Given the description of an element on the screen output the (x, y) to click on. 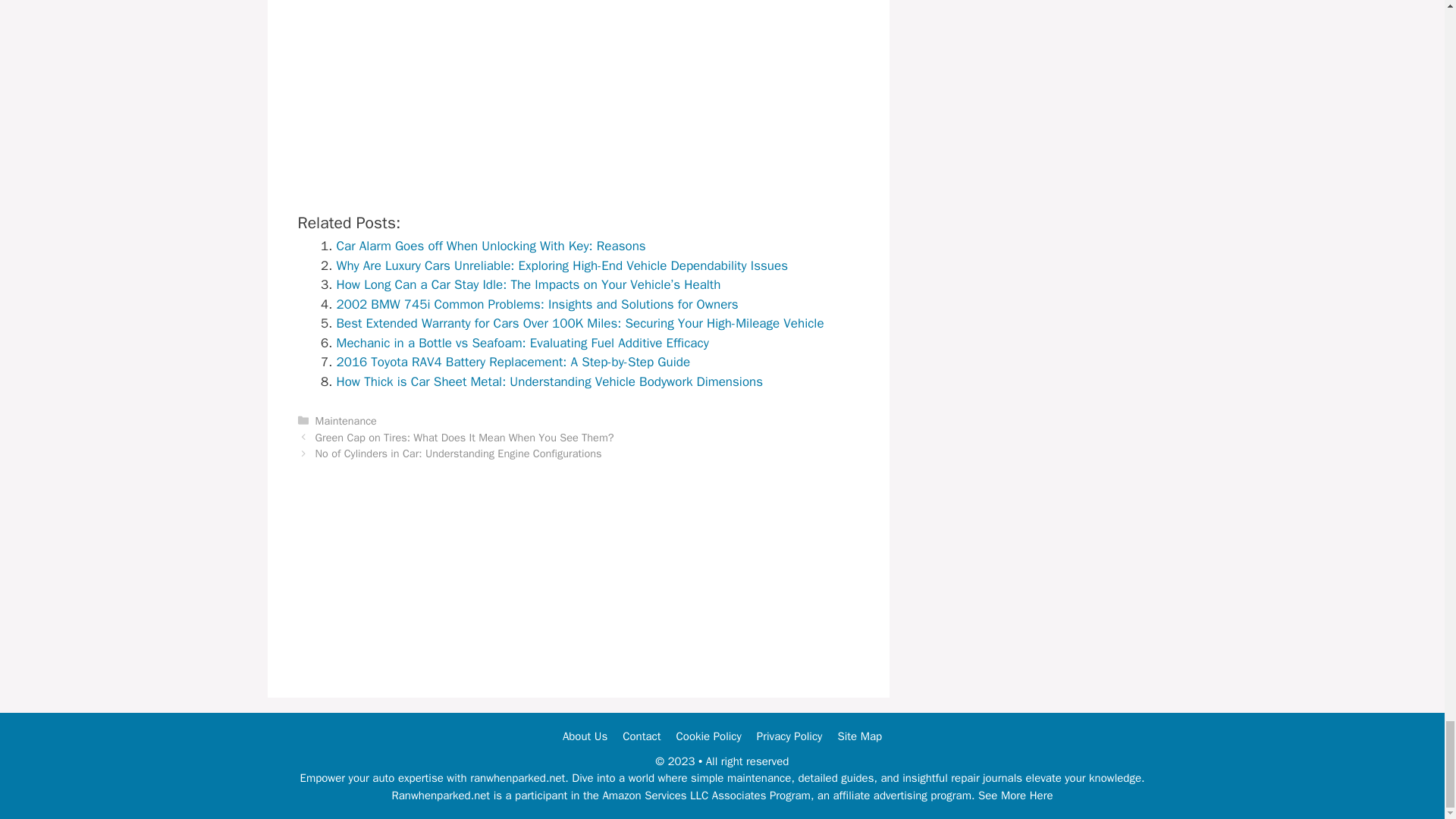
Car Alarm Goes off When Unlocking With Key: Reasons (491, 245)
2016 Toyota RAV4 Battery Replacement: A Step-by-Step Guide (513, 361)
